Given the description of an element on the screen output the (x, y) to click on. 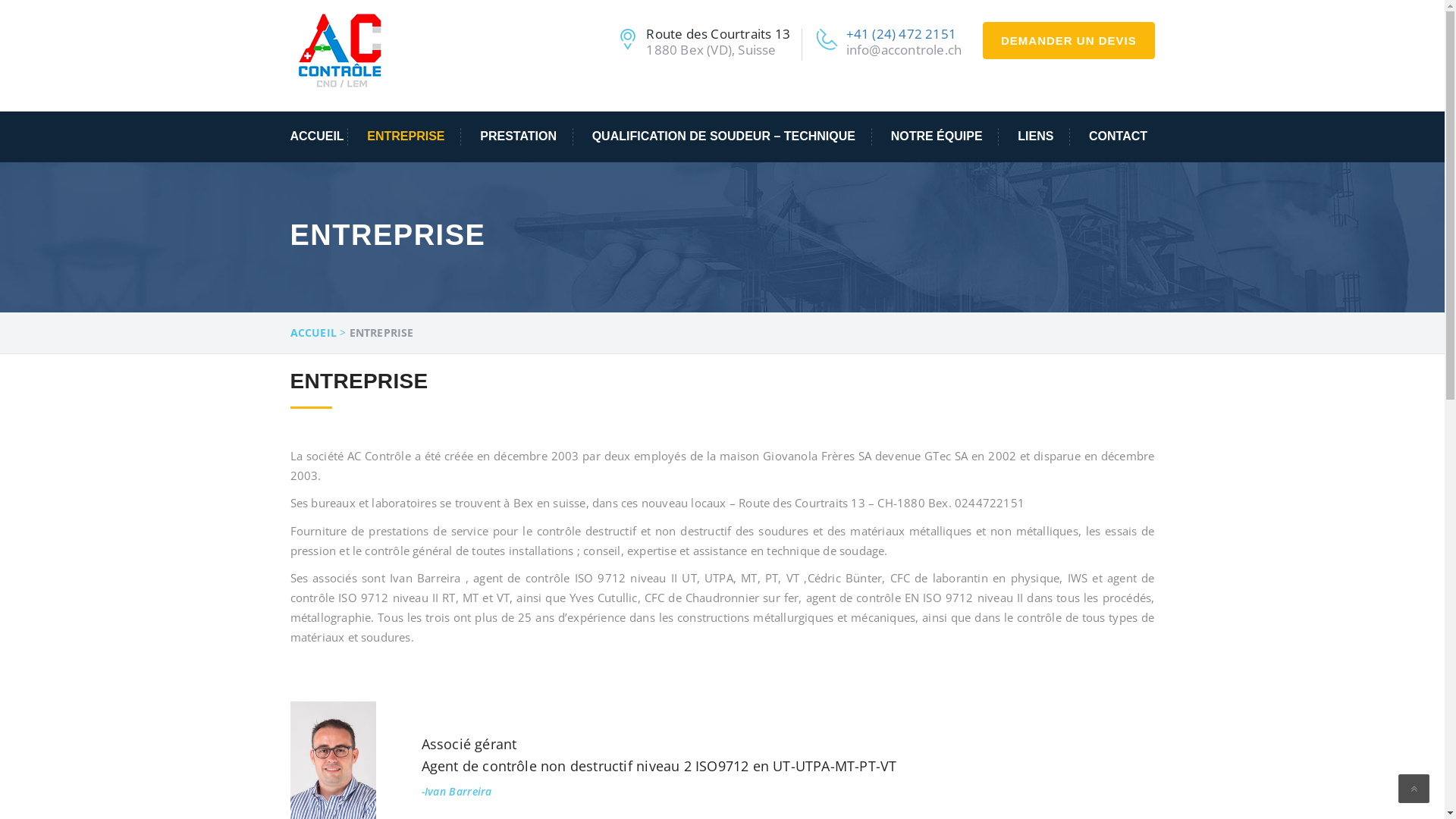
DEMANDER UN DEVIS Element type: text (1068, 40)
ACCUEIL Element type: text (318, 136)
ENTREPRISE Element type: text (406, 136)
-Ivan Barreira Element type: text (456, 791)
PRESTATION Element type: text (518, 136)
Accueil Element type: hover (340, 50)
+41 (24) 472 2151 Element type: text (901, 33)
CONTACT Element type: text (1110, 136)
LIENS Element type: text (1035, 136)
info@accontrole.ch Element type: text (904, 49)
ACCUEIL Element type: text (312, 332)
